Given the description of an element on the screen output the (x, y) to click on. 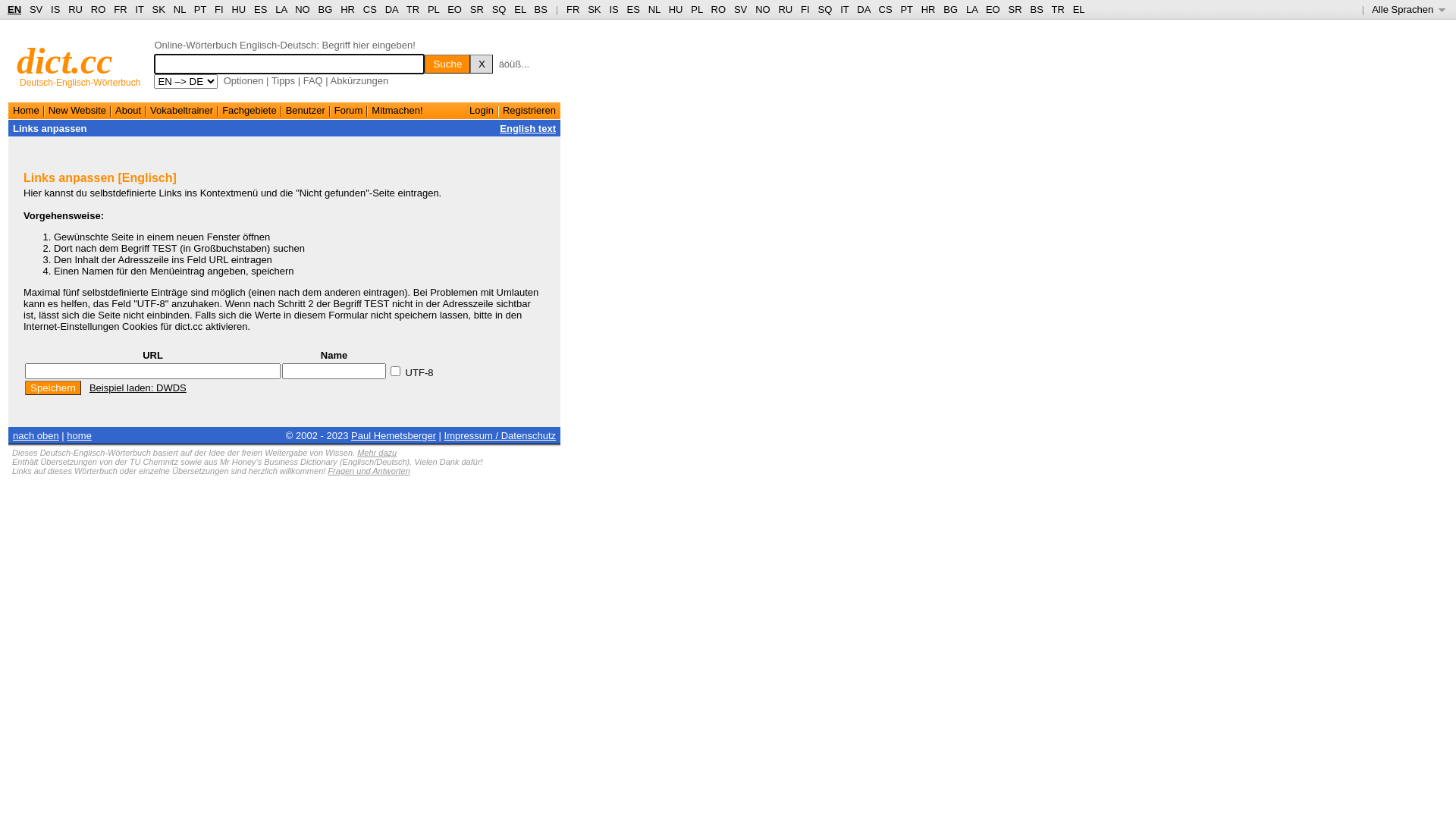
FI Element type: text (804, 9)
RO Element type: text (98, 9)
DA Element type: text (862, 9)
nach oben Element type: text (35, 434)
PL Element type: text (433, 9)
SR Element type: text (476, 9)
ES Element type: text (633, 9)
NL Element type: text (654, 9)
Mehr dazu Element type: text (376, 452)
Impressum / Datenschutz Element type: text (499, 434)
SQ Element type: text (824, 9)
X Element type: text (481, 63)
dict.cc Element type: text (64, 60)
Home Element type: text (25, 110)
Registrieren Element type: text (528, 110)
Mitmachen! Element type: text (396, 110)
RU Element type: text (75, 9)
TR Element type: text (1057, 9)
Suche Element type: text (447, 63)
CS Element type: text (369, 9)
NL Element type: text (179, 9)
Benutzer Element type: text (305, 110)
SV Element type: text (35, 9)
EL Element type: text (519, 9)
RO Element type: text (718, 9)
FI Element type: text (218, 9)
Alle Sprachen  Element type: text (1408, 9)
RU Element type: text (785, 9)
EO Element type: text (992, 9)
FAQ Element type: text (313, 80)
Paul Hemetsberger Element type: text (393, 434)
EN Element type: text (14, 9)
SV Element type: text (740, 9)
Beispiel laden: DWDS Element type: text (137, 387)
IS Element type: text (613, 9)
IT Element type: text (844, 9)
LA Element type: text (971, 9)
CS Element type: text (884, 9)
home Element type: text (78, 434)
DA Element type: text (391, 9)
Login Element type: text (481, 110)
SQ Element type: text (499, 9)
HU Element type: text (675, 9)
BS Element type: text (540, 9)
New Website Element type: text (77, 110)
ES Element type: text (260, 9)
Vokabeltrainer Element type: text (181, 110)
PT Element type: text (200, 9)
SR Element type: text (1015, 9)
LA Element type: text (280, 9)
EL Element type: text (1079, 9)
EO Element type: text (454, 9)
HU Element type: text (238, 9)
PT Element type: text (906, 9)
IS Element type: text (54, 9)
Forum Element type: text (348, 110)
SK Element type: text (593, 9)
FR Element type: text (119, 9)
SK Element type: text (158, 9)
IT Element type: text (138, 9)
Fragen und Antworten Element type: text (368, 470)
English text Element type: text (527, 128)
PL Element type: text (696, 9)
HR Element type: text (347, 9)
Fachgebiete Element type: text (249, 110)
Tipps Element type: text (282, 80)
About Element type: text (128, 110)
HR Element type: text (928, 9)
NO Element type: text (302, 9)
FR Element type: text (572, 9)
BG Element type: text (325, 9)
Speichern Element type: text (53, 387)
TR Element type: text (412, 9)
Optionen Element type: text (243, 80)
NO Element type: text (762, 9)
BG Element type: text (950, 9)
BS Element type: text (1035, 9)
